Given the description of an element on the screen output the (x, y) to click on. 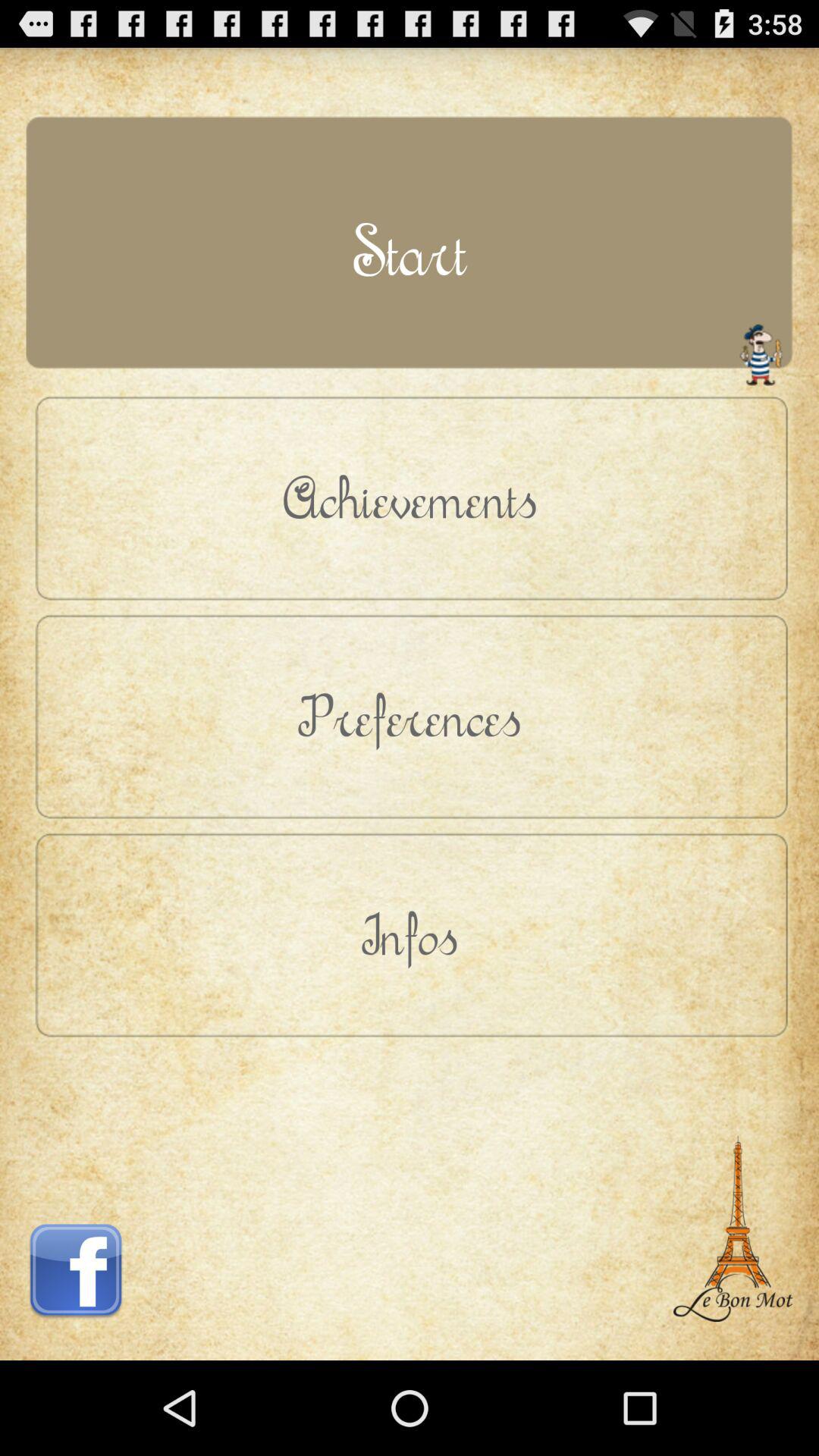
open the preferences (409, 716)
